Given the description of an element on the screen output the (x, y) to click on. 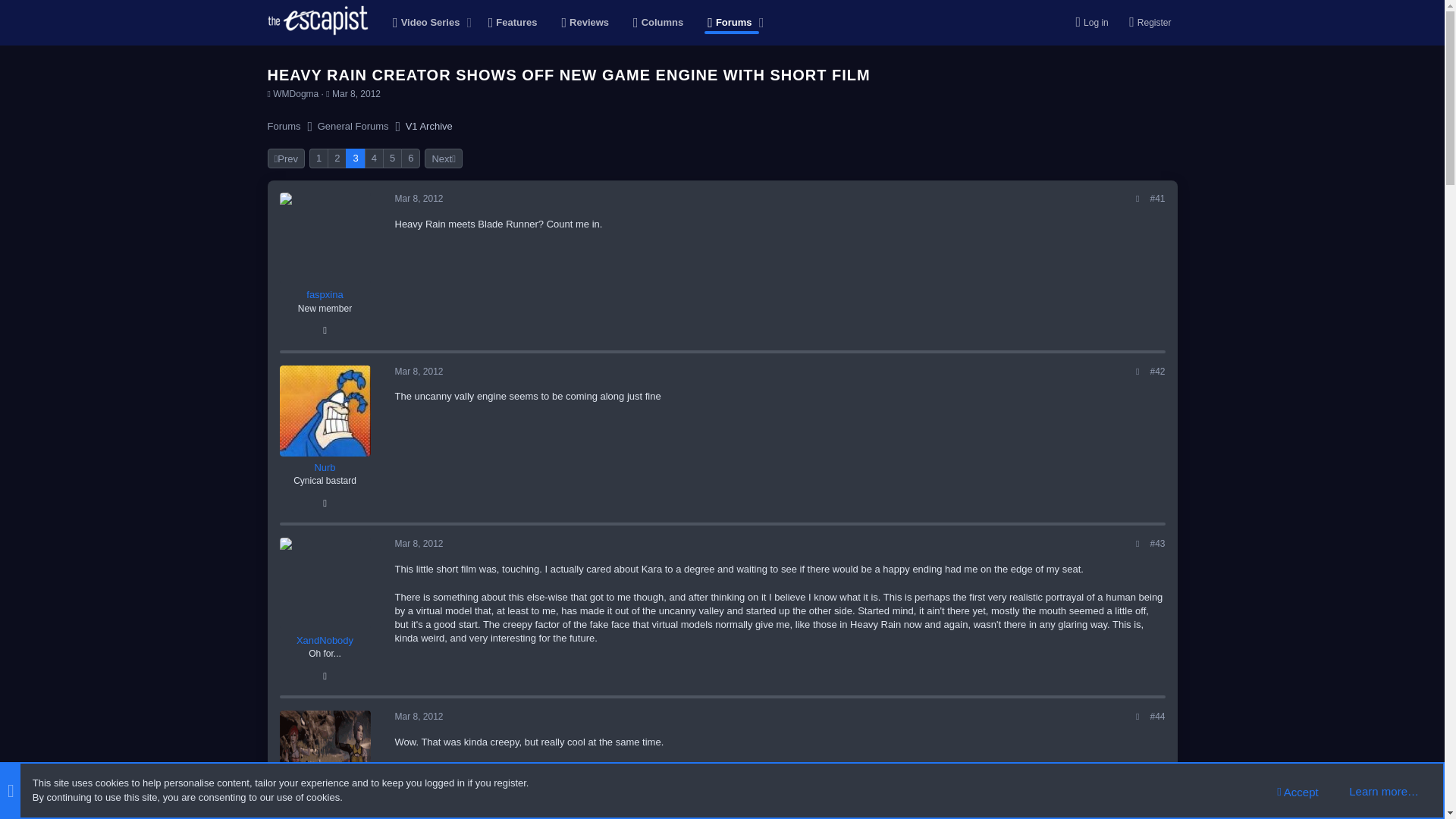
Columns (658, 22)
General Forums (352, 126)
Forums (282, 126)
V1 Archive (429, 126)
Video Series (421, 22)
Reviews (584, 22)
3 (355, 158)
Mar 8, 2012 (355, 93)
2 (337, 158)
5 (392, 158)
Features (513, 22)
Prev (285, 158)
6 (410, 158)
Log in (1088, 22)
Next (443, 158)
